Given the description of an element on the screen output the (x, y) to click on. 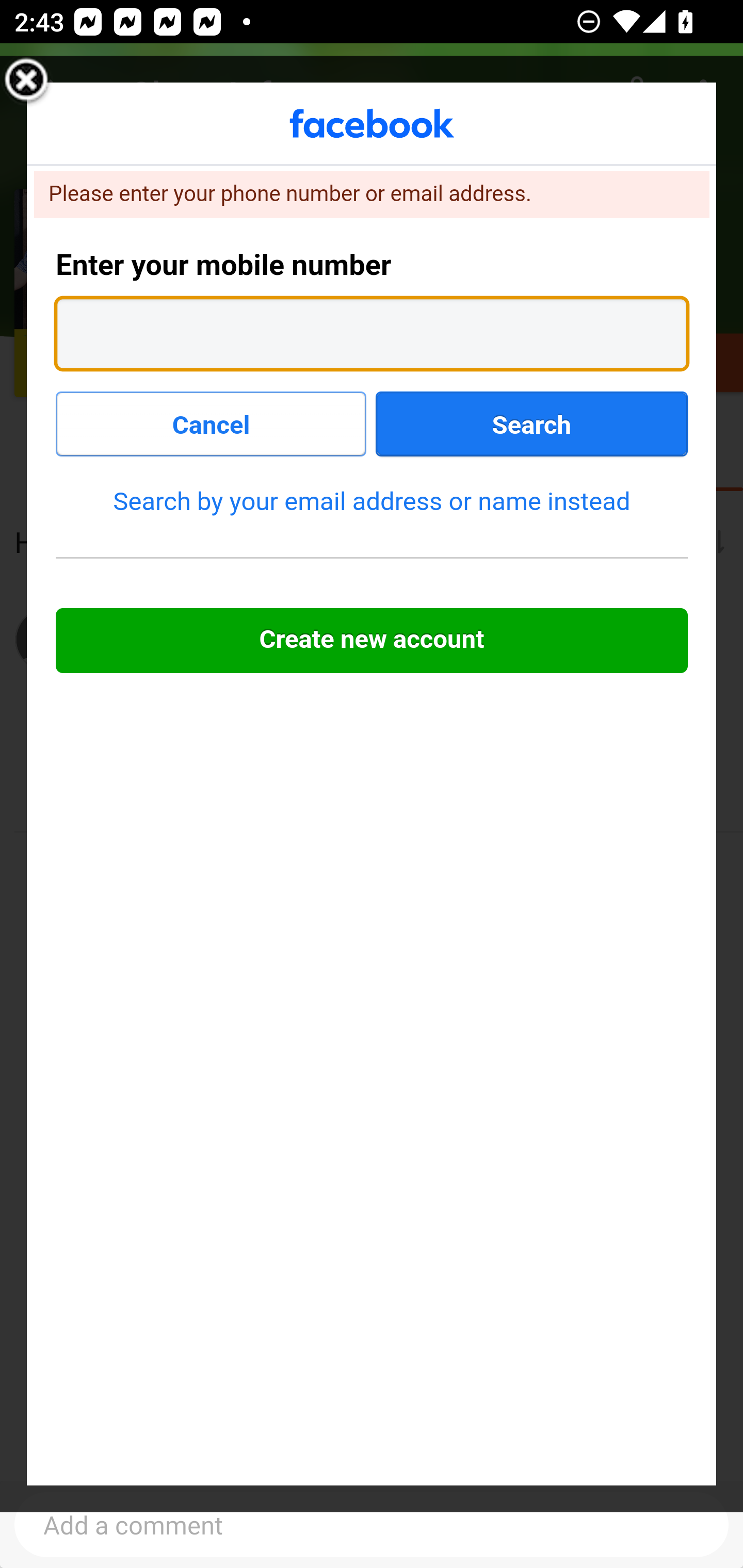
Facebook (372, 123)
Cancel (211, 422)
Search (531, 422)
Search by your email address or name instead (371, 500)
Create new account (372, 640)
